Given the description of an element on the screen output the (x, y) to click on. 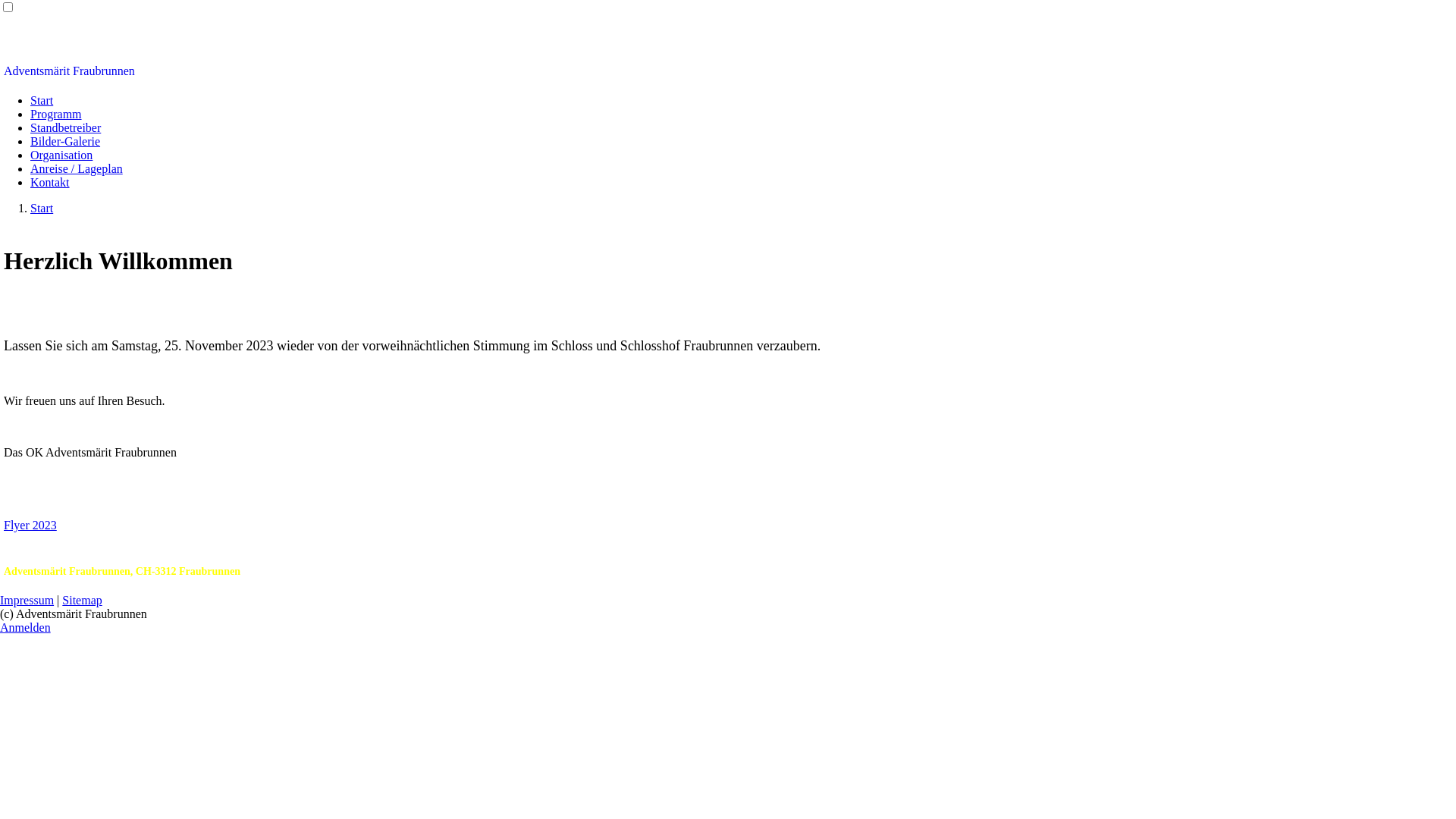
Impressum Element type: text (26, 599)
Standbetreiber Element type: text (65, 127)
Programm Element type: text (55, 113)
Organisation Element type: text (61, 154)
Start Element type: text (41, 100)
Anreise / Lageplan Element type: text (76, 168)
Anmelden Element type: text (25, 627)
Flyer 2023 Element type: text (29, 524)
Bilder-Galerie Element type: text (65, 140)
Kontakt Element type: text (49, 181)
Sitemap Element type: text (81, 599)
Start Element type: text (41, 207)
